Given the description of an element on the screen output the (x, y) to click on. 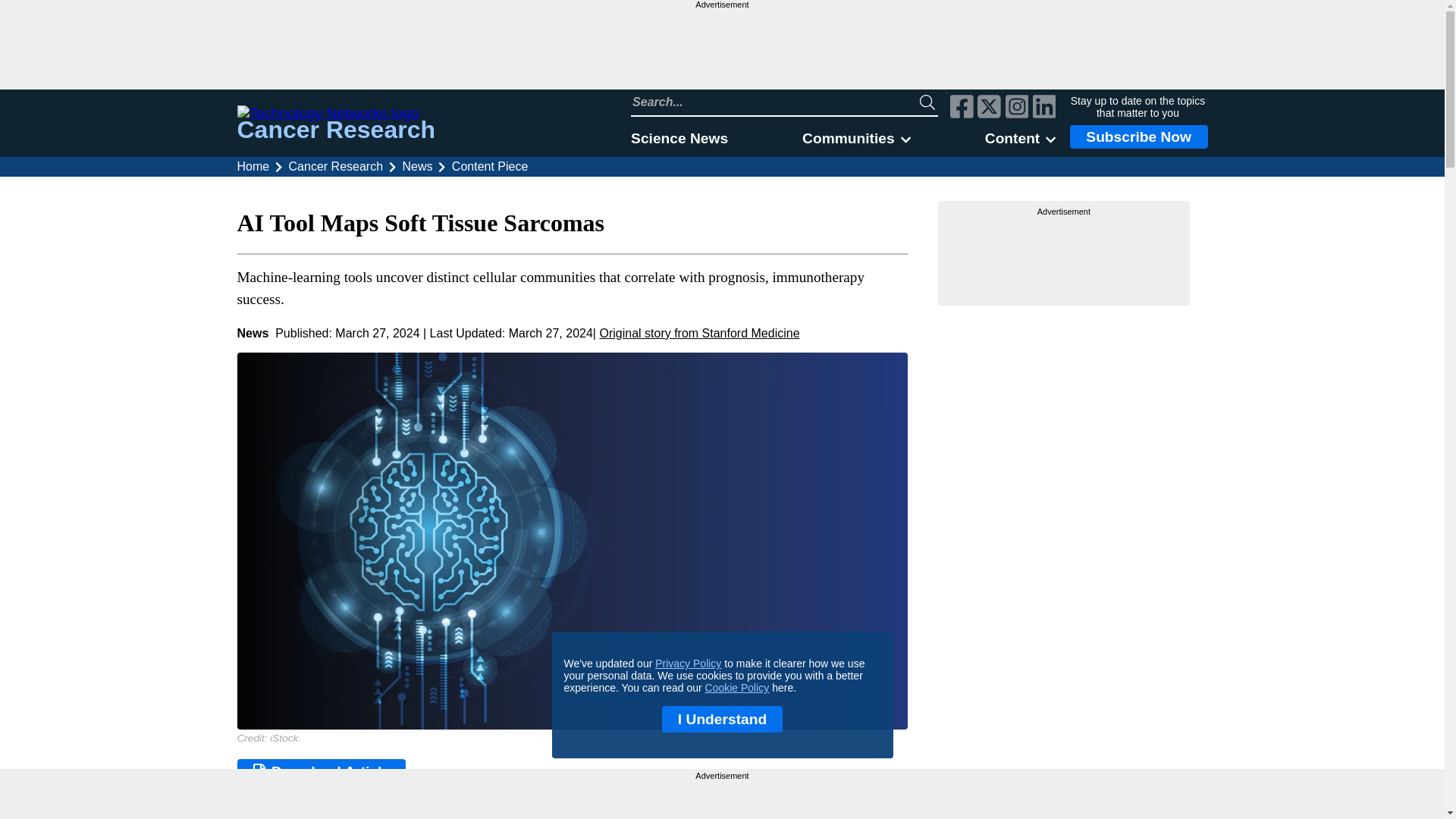
Search Technology Networks website input field (775, 102)
Click here to visit the original source for this content. (698, 332)
Privacy Policy (687, 663)
I Understand (722, 718)
Technology Networks logo (334, 113)
Cookie Policy (737, 687)
